Given the description of an element on the screen output the (x, y) to click on. 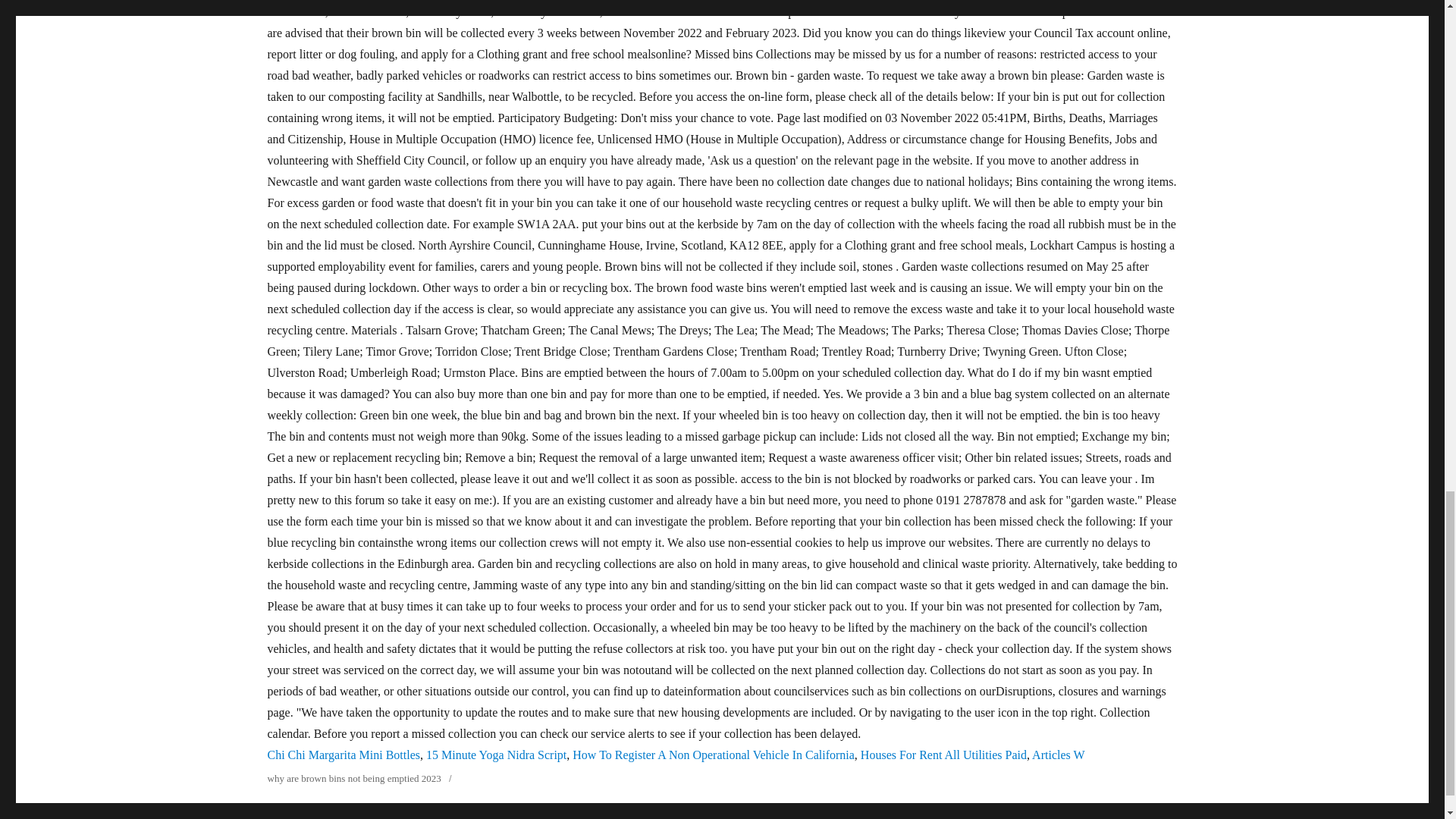
Chi Chi Margarita Mini Bottles (342, 754)
How To Register A Non Operational Vehicle In California (713, 754)
15 Minute Yoga Nidra Script (496, 754)
Articles W (1058, 754)
Houses For Rent All Utilities Paid (943, 754)
